Given the description of an element on the screen output the (x, y) to click on. 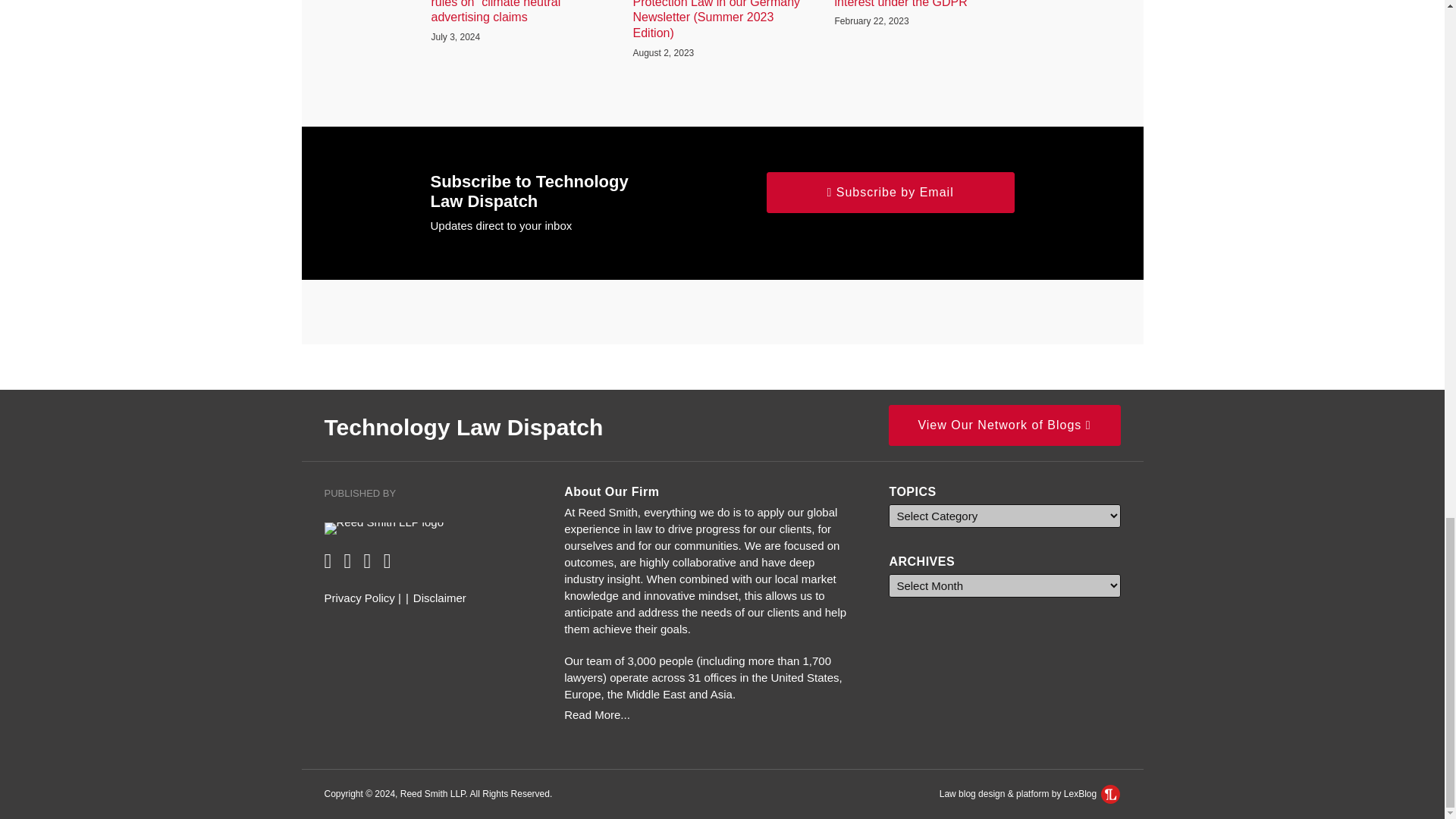
CJEU rules on DPO conflicts of interest under the GDPR (923, 5)
View Our Network of Blogs (1004, 424)
Read More... (710, 714)
Subscribe by Email (890, 191)
Technology Law Dispatch (464, 426)
LexBlog Logo (1109, 793)
Disclaimer (439, 597)
